Given the description of an element on the screen output the (x, y) to click on. 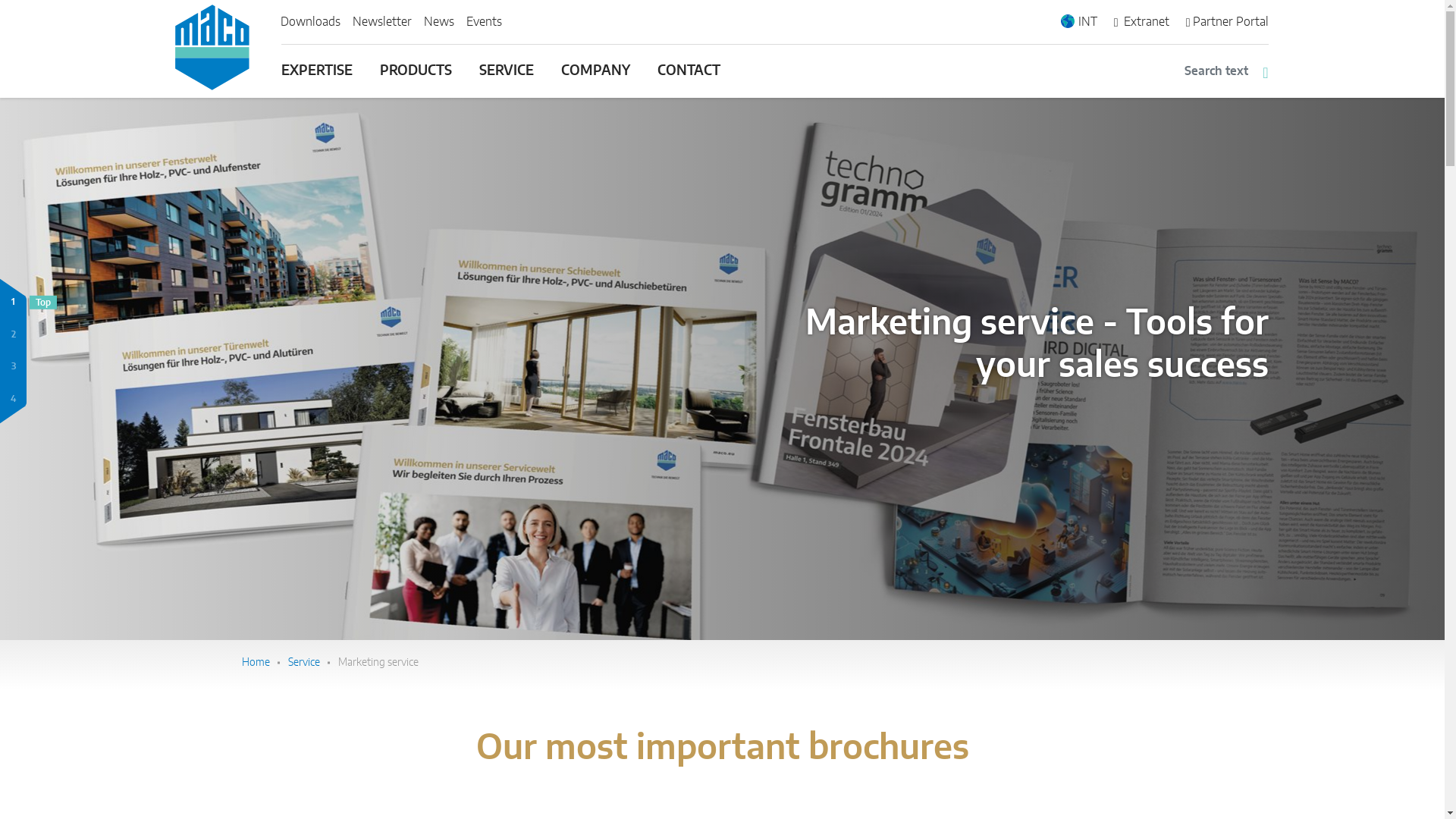
News (438, 21)
EXPERTISE (315, 76)
Events (483, 21)
Newsletter (381, 21)
Expertise (315, 76)
Products (13, 302)
3 (414, 76)
INT (13, 366)
4 (1079, 21)
2 (13, 399)
Zum Inhalt (13, 335)
Events (438, 21)
Downloads (483, 21)
